Given the description of an element on the screen output the (x, y) to click on. 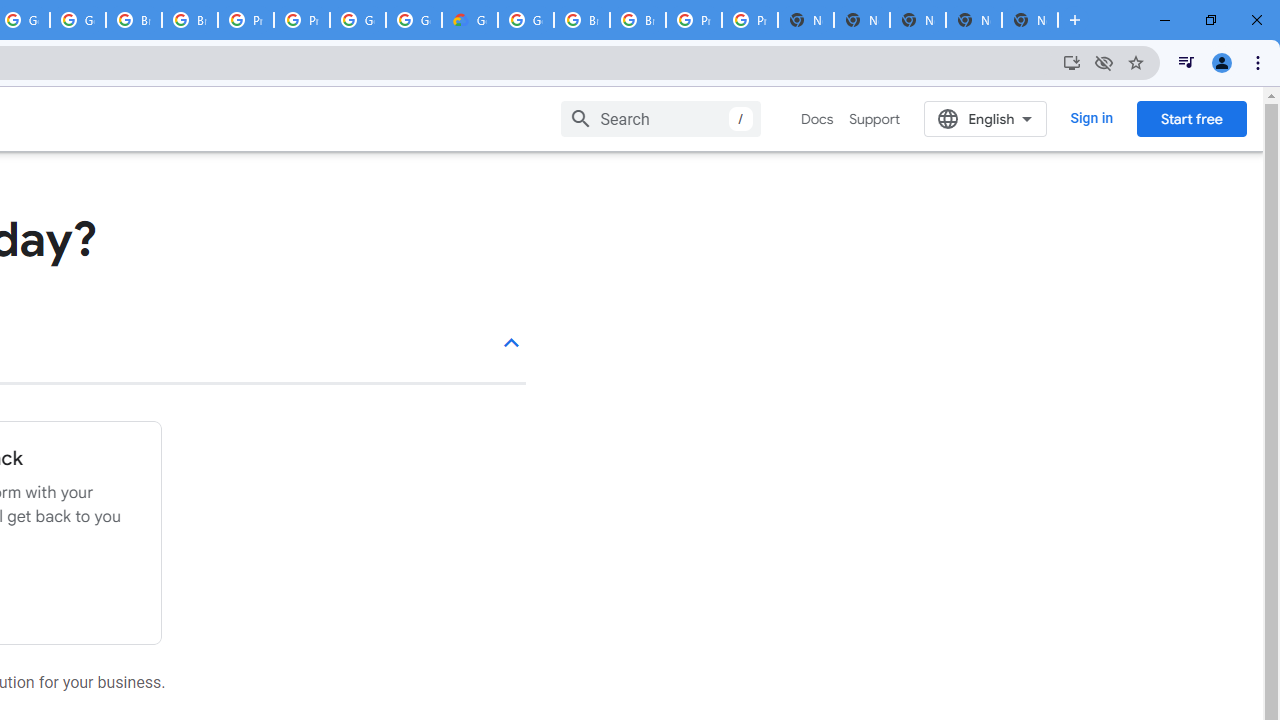
Support (874, 119)
Start free (1191, 118)
Google Cloud Platform (358, 20)
New Tab (1030, 20)
English (985, 118)
Google Cloud Platform (413, 20)
Browse Chrome as a guest - Computer - Google Chrome Help (582, 20)
Google Cloud Estimate Summary (469, 20)
